Given the description of an element on the screen output the (x, y) to click on. 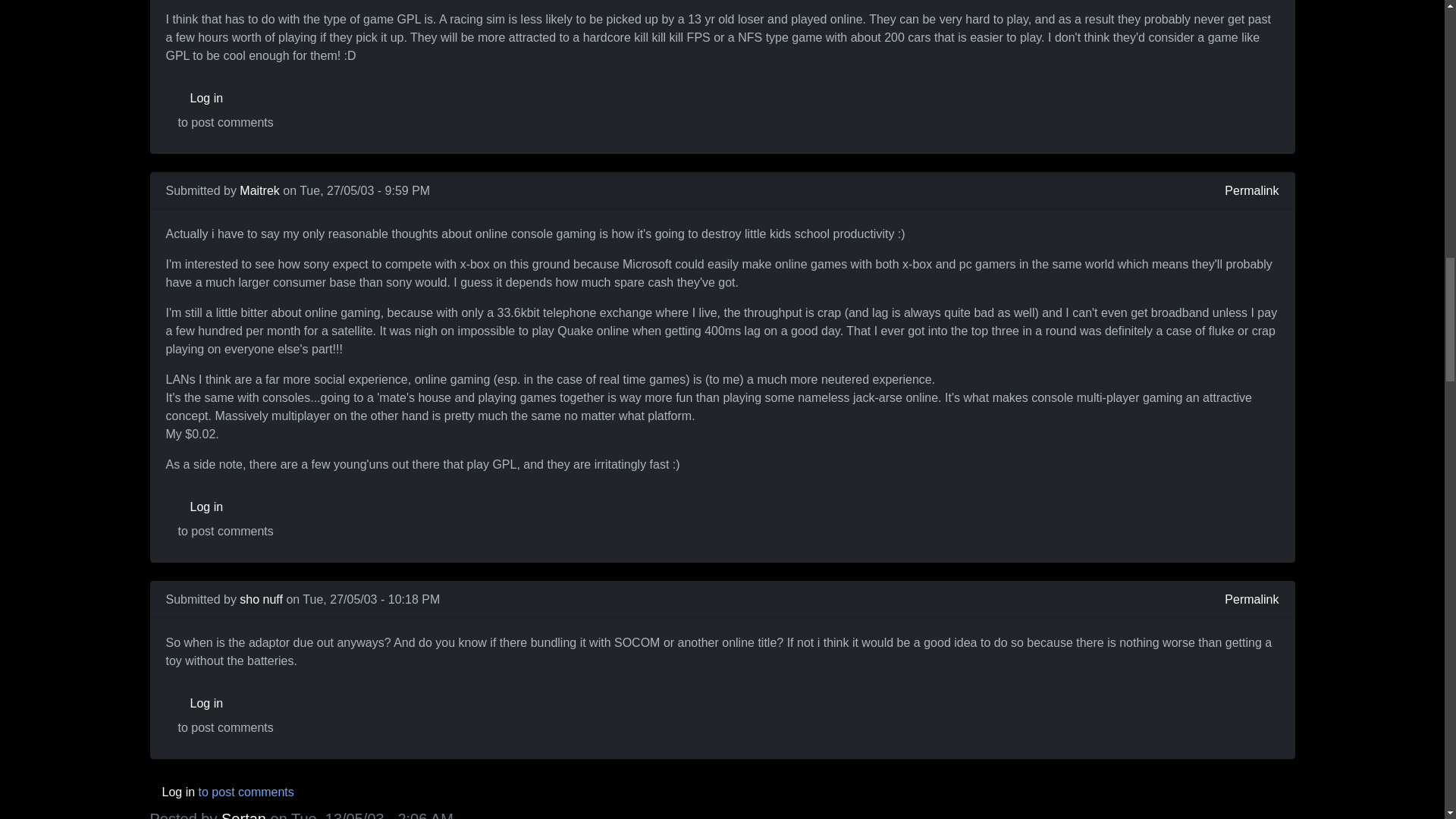
Tuesday, 13 May, 2003 - 2:06 AM (371, 814)
View user profile. (261, 599)
View user profile. (243, 814)
View user profile. (259, 190)
